Given the description of an element on the screen output the (x, y) to click on. 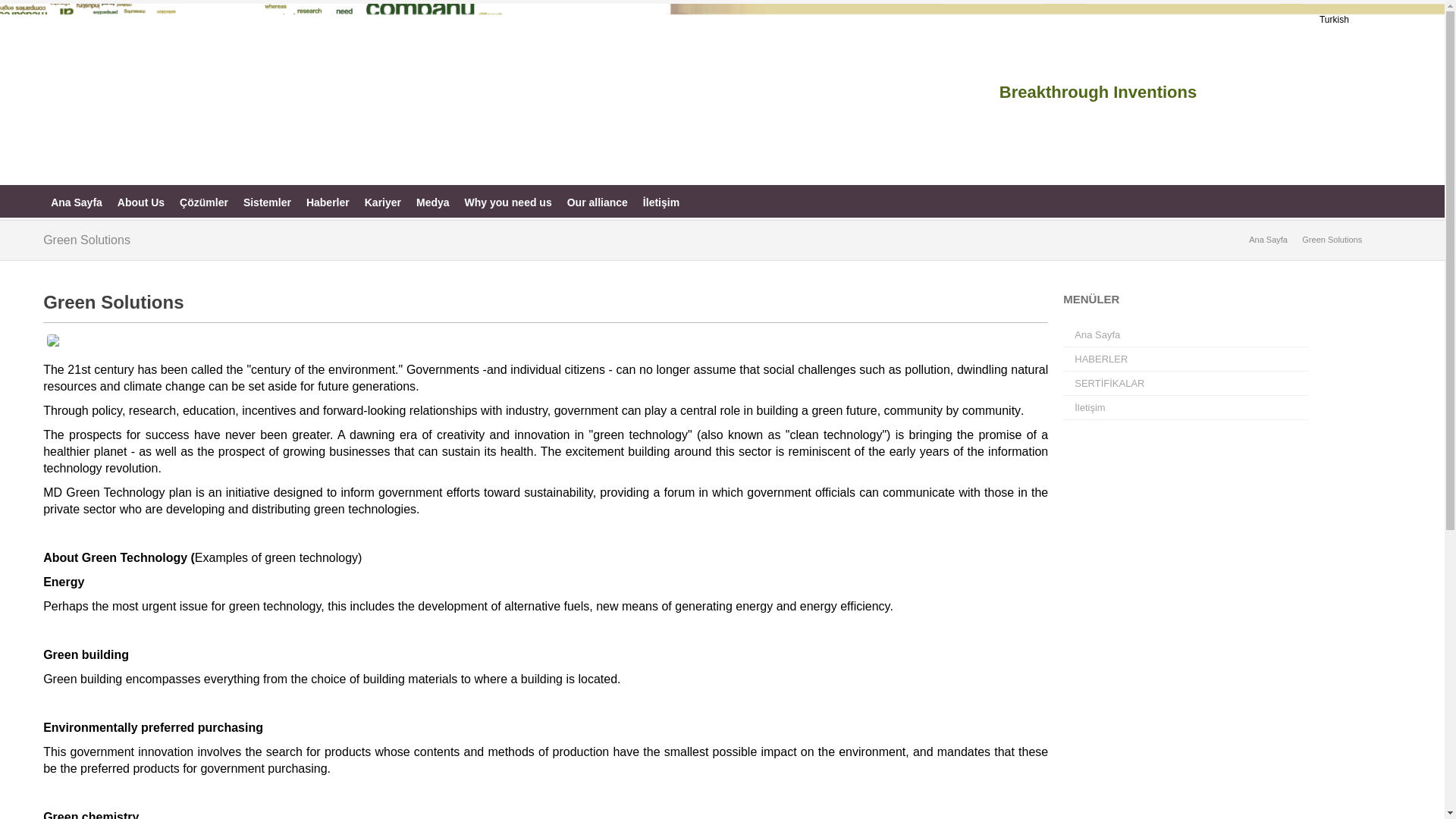
Ana Sayfa (76, 201)
About Us (140, 201)
Sistemler (266, 201)
Turkish (1334, 19)
English (1368, 19)
